Given the description of an element on the screen output the (x, y) to click on. 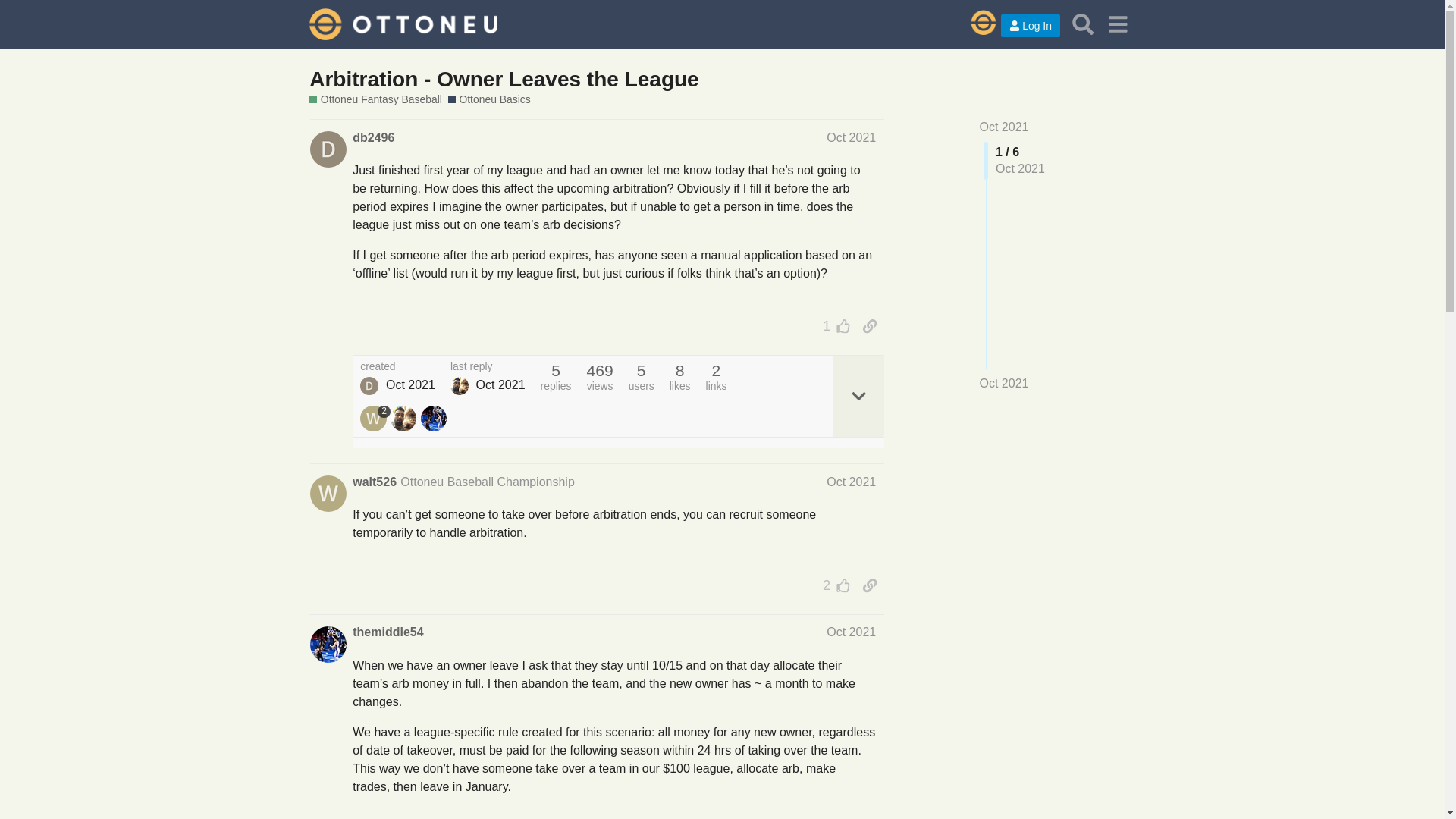
Oct 2021 (851, 137)
Post date (851, 137)
copy a link to this post to clipboard (869, 325)
Ottoneu Fantasy Baseball (375, 99)
2 (832, 585)
walt526 (374, 482)
last reply (487, 366)
Niv (458, 385)
Dashboard (975, 24)
Oct 2021 (1004, 126)
Oct 2021 (851, 631)
menu (1117, 23)
Your Ottoneu User Dashboard (975, 24)
Ottoneu Basics (489, 99)
Db2496 (368, 385)
